Given the description of an element on the screen output the (x, y) to click on. 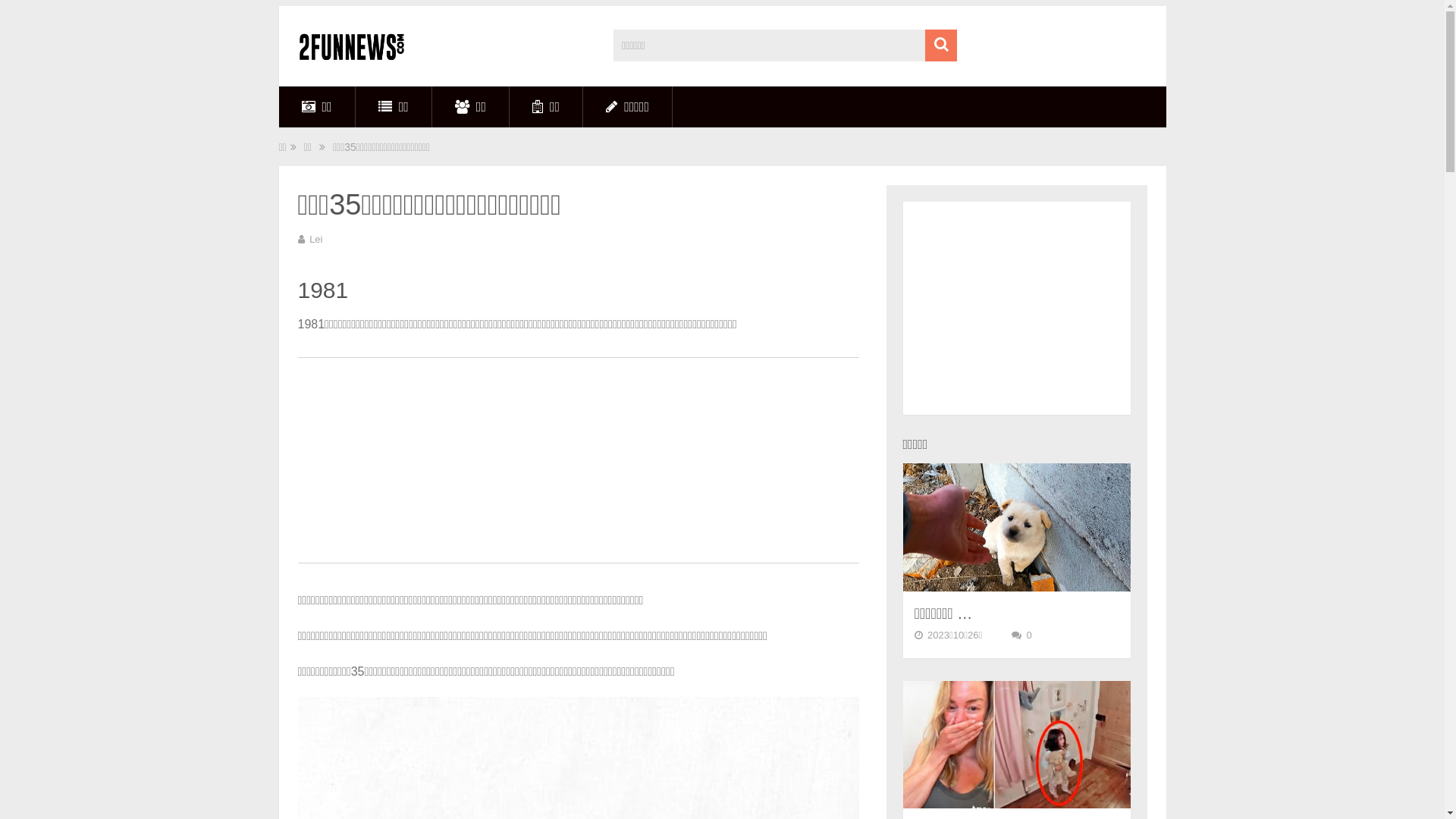
Lei Element type: text (315, 238)
